Given the description of an element on the screen output the (x, y) to click on. 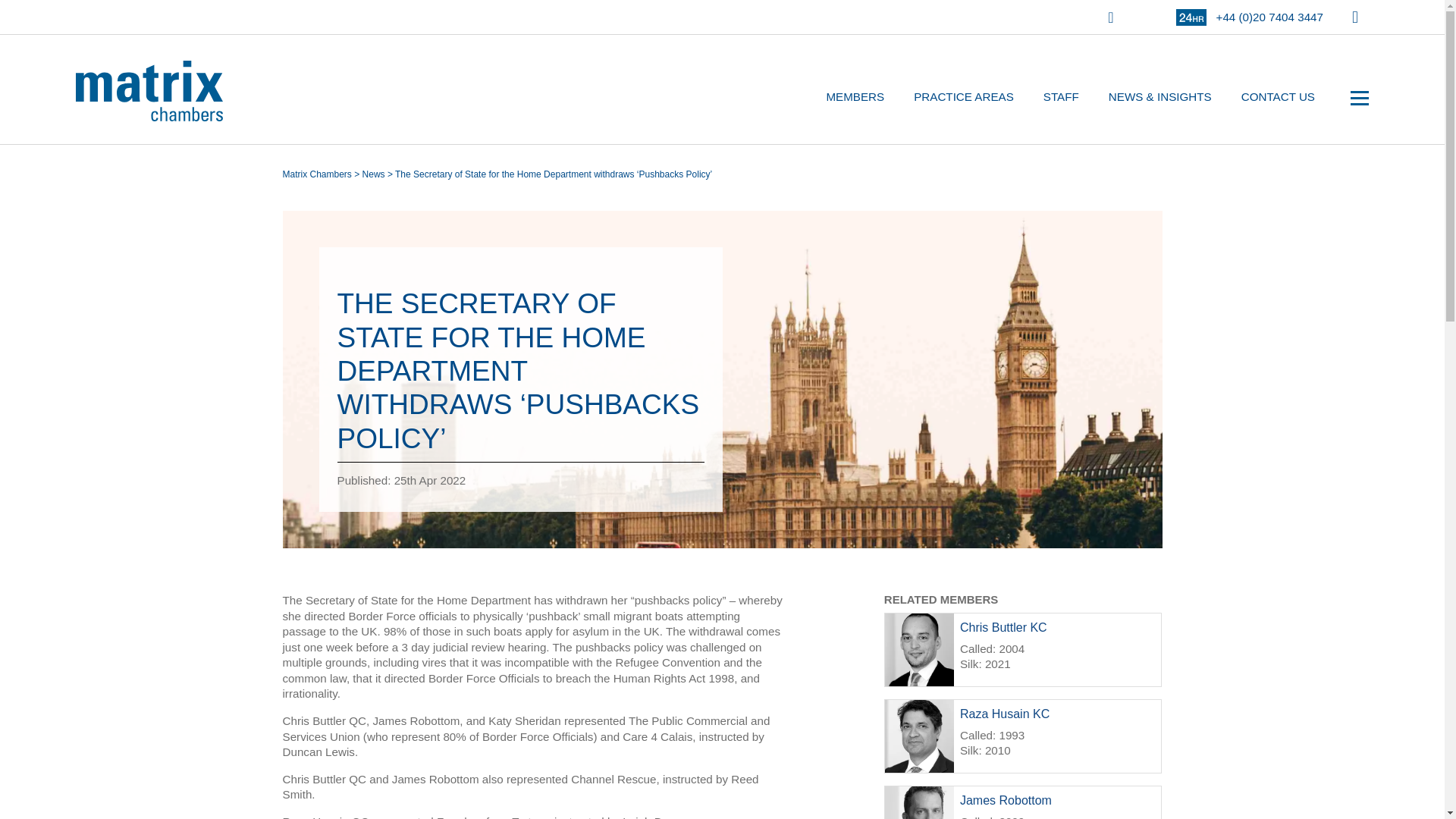
MEMBERS (854, 97)
Go to News. (373, 173)
CONTACT US (1277, 97)
Go to Matrix Chambers. (316, 173)
STAFF (1061, 97)
PRACTICE AREAS (963, 97)
